Given the description of an element on the screen output the (x, y) to click on. 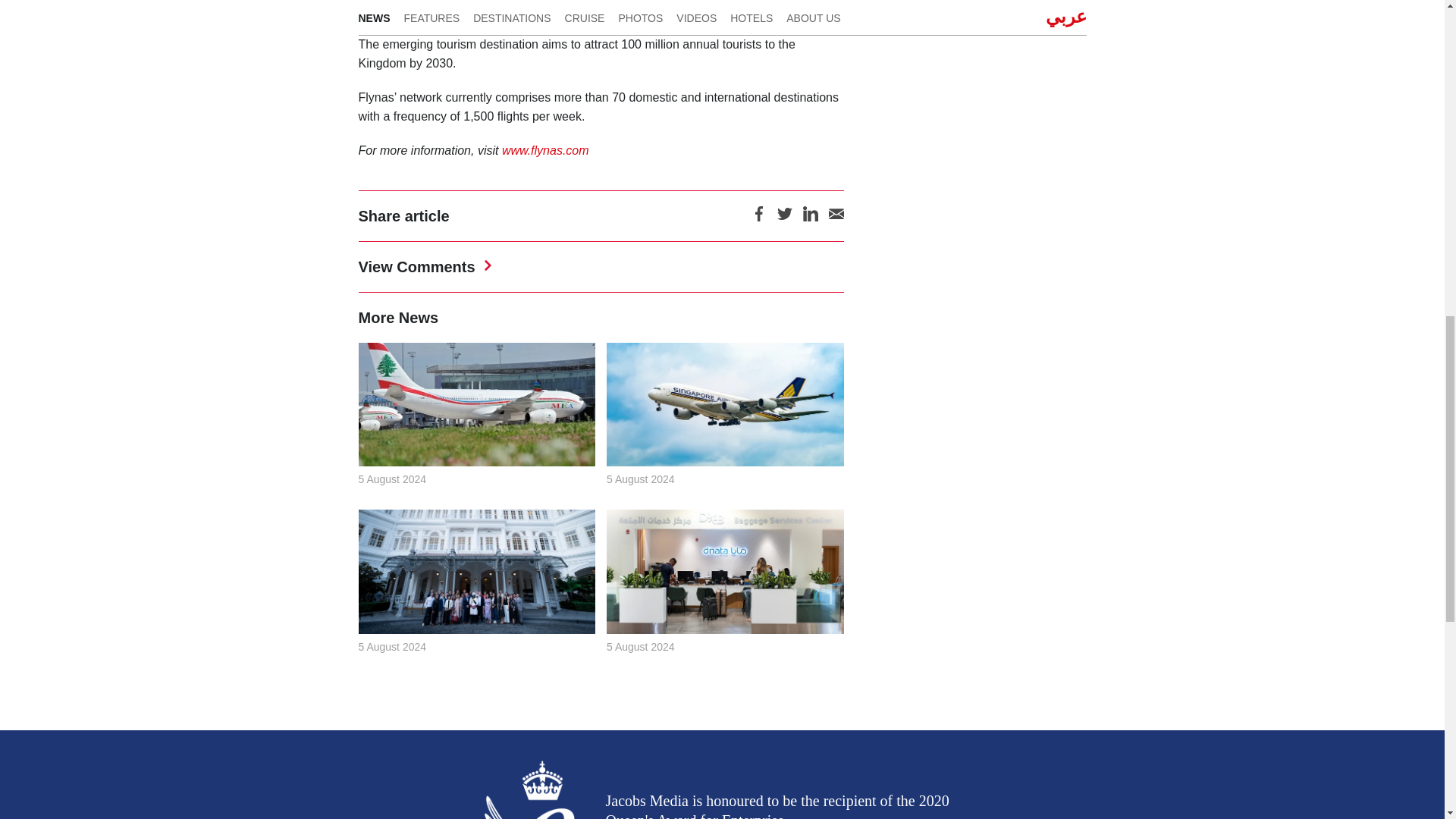
Share by email (835, 218)
Share on LinkedIn (809, 218)
Share on Facebook (758, 218)
Share on Twitter (784, 218)
